Given the description of an element on the screen output the (x, y) to click on. 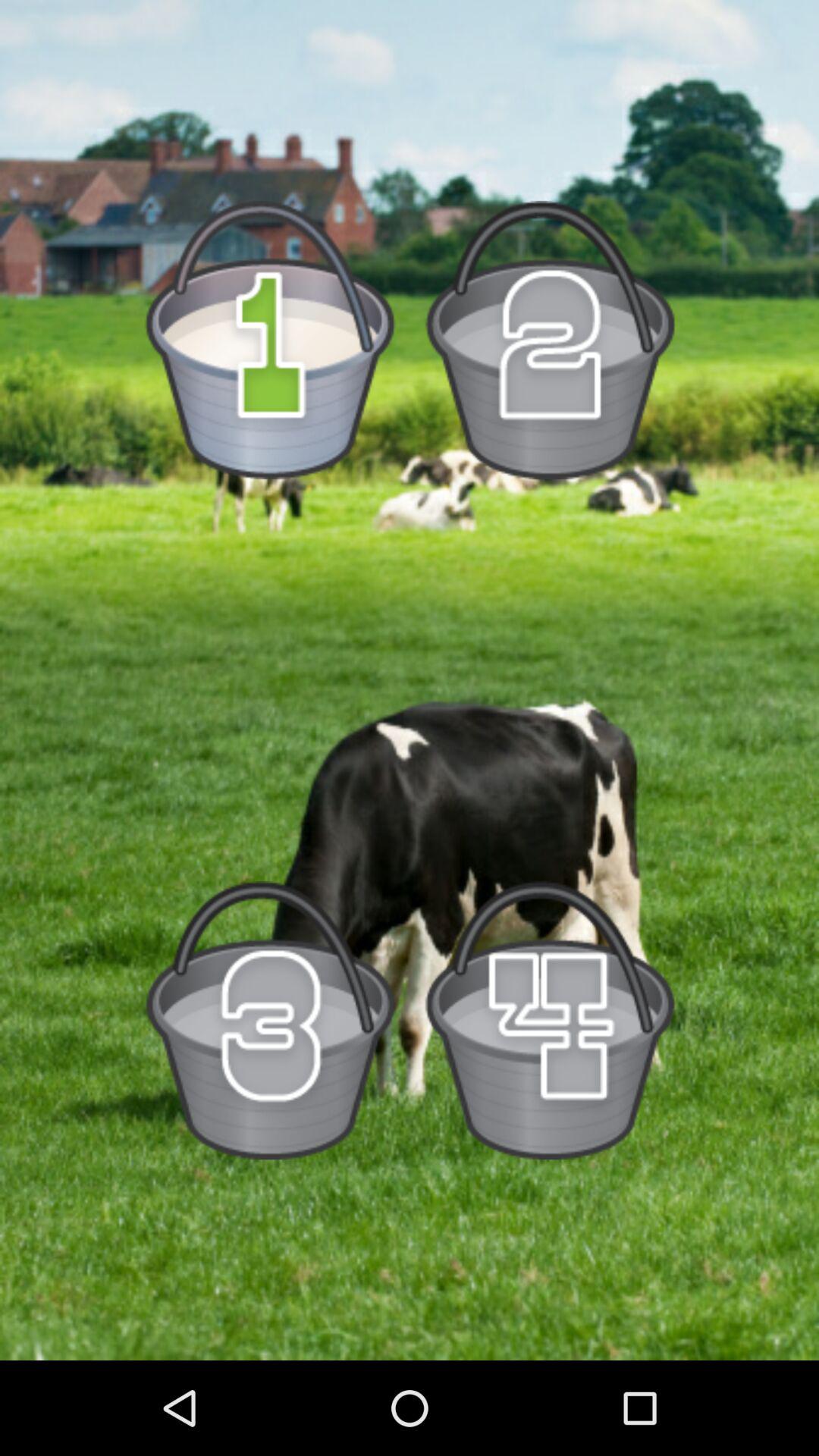
select bucket number 2 (548, 339)
